Given the description of an element on the screen output the (x, y) to click on. 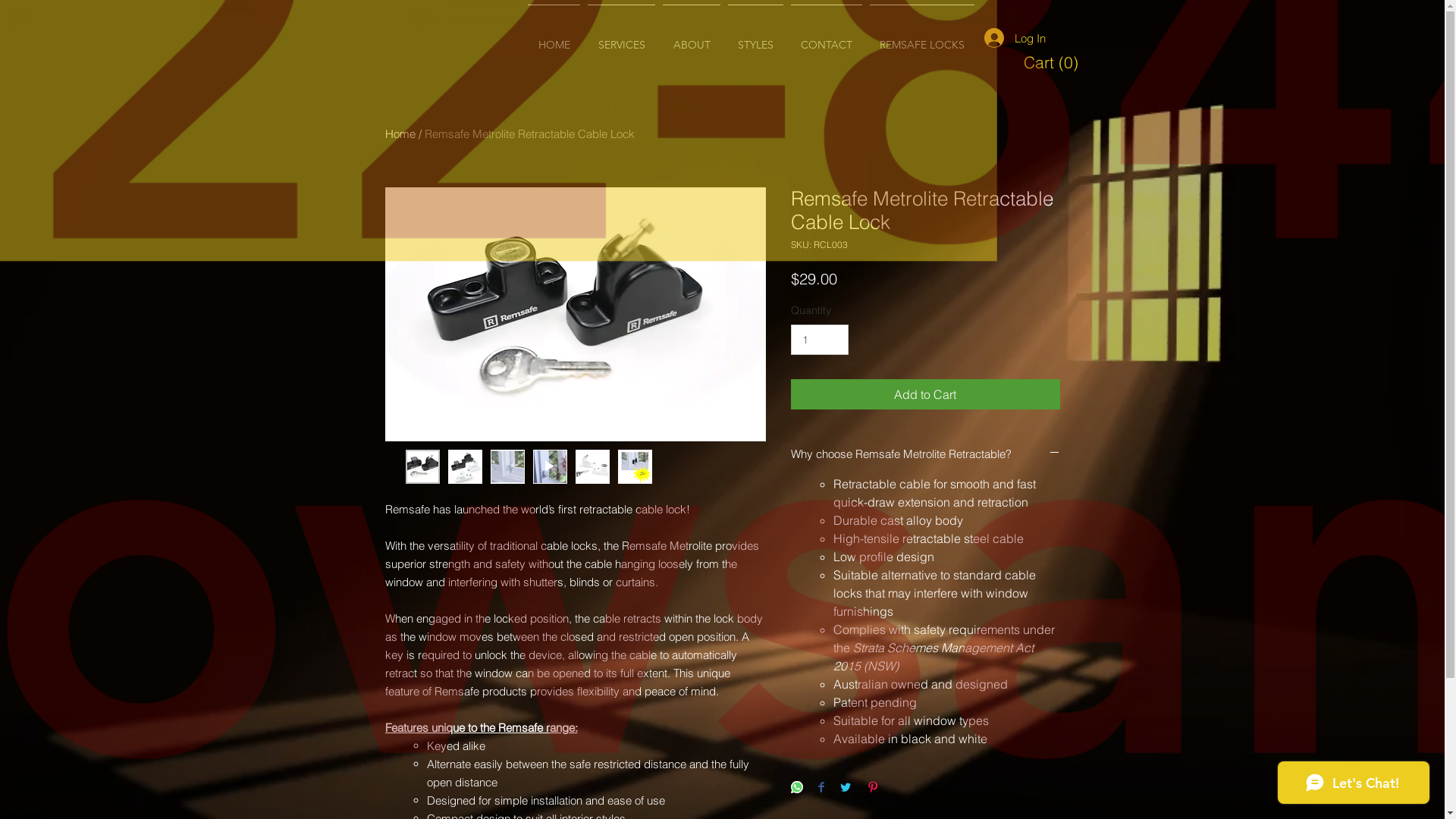
REMSAFE LOCKS Element type: text (922, 38)
CONTACT Element type: text (826, 38)
ABOUT Element type: text (691, 38)
Add to Cart Element type: text (924, 394)
SERVICES Element type: text (620, 38)
HOME Element type: text (553, 38)
Why choose Remsafe Metrolite Retractable? Element type: text (924, 453)
Remsafe Metrolite Retractable Cable Lock Element type: text (529, 133)
Log In Element type: text (1014, 37)
Cart (0) Element type: text (1051, 62)
STYLES Element type: text (755, 38)
Home Element type: text (400, 133)
